Given the description of an element on the screen output the (x, y) to click on. 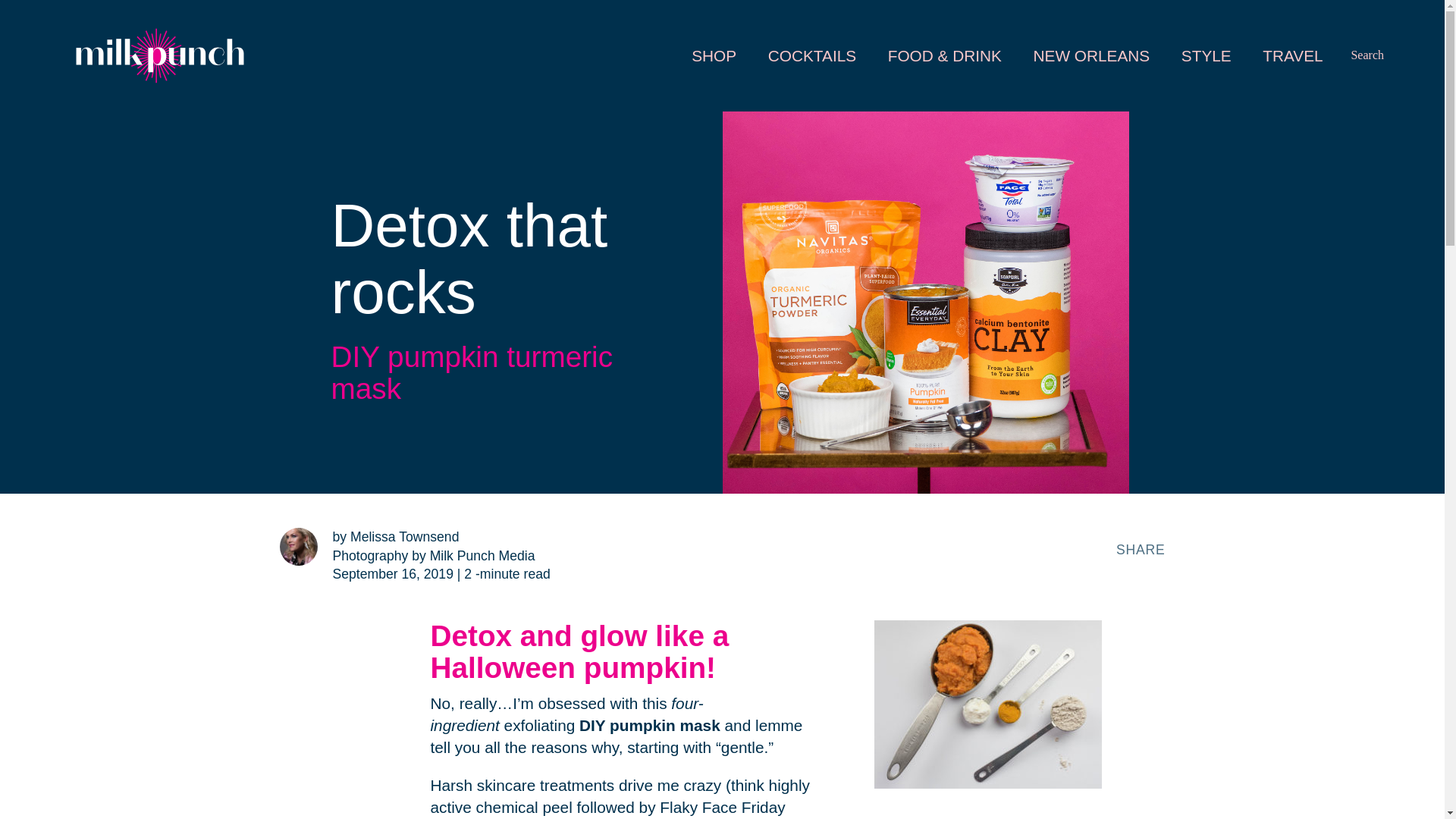
Melissa Townsend (1091, 55)
COCKTAILS (404, 536)
STYLE (812, 55)
TRAVEL (1206, 55)
Search (1293, 55)
Posts by Melissa Townsend (1367, 55)
SHOP (404, 536)
